Given the description of an element on the screen output the (x, y) to click on. 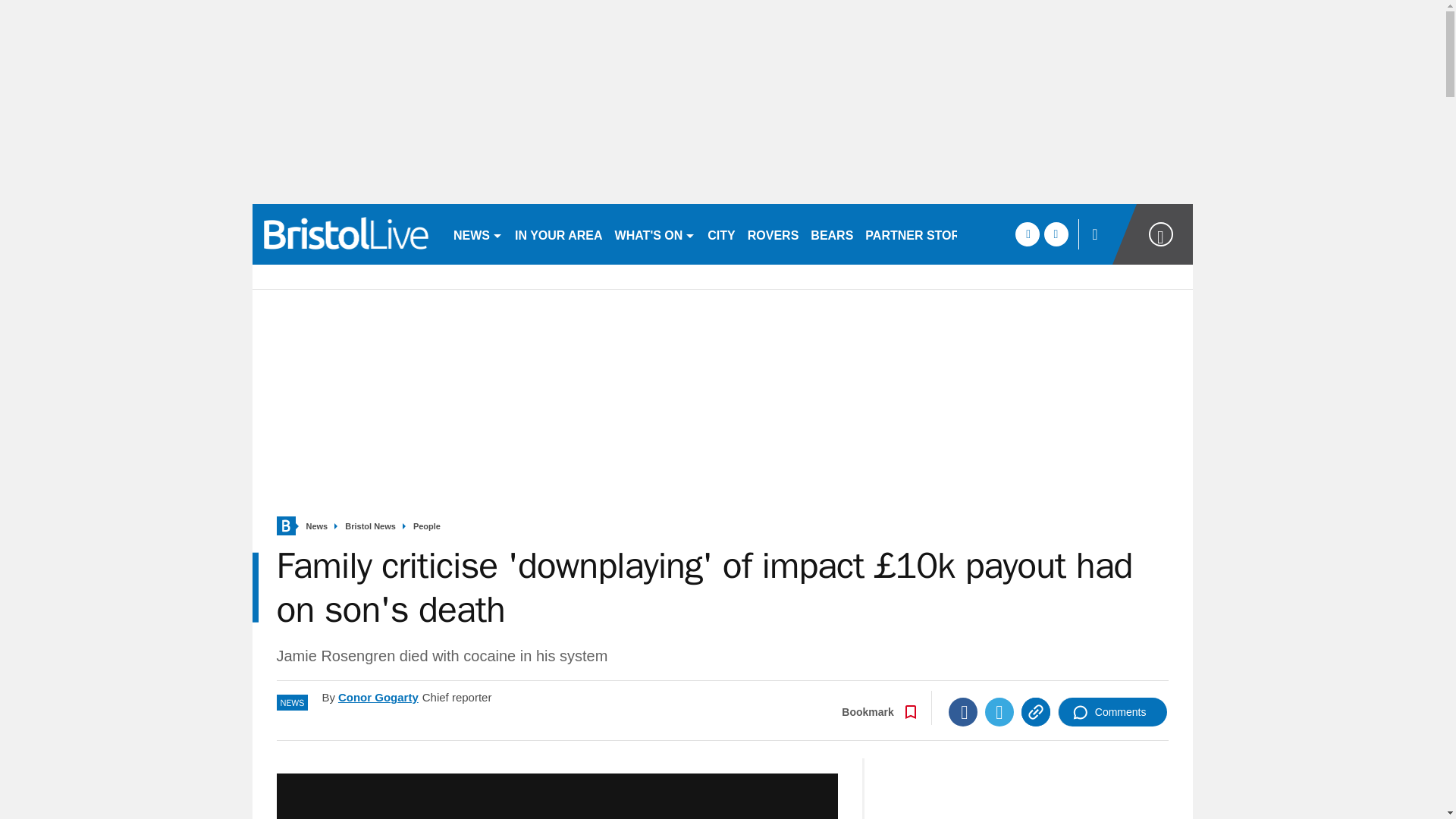
Facebook (962, 711)
ROVERS (773, 233)
bristolpost (345, 233)
IN YOUR AREA (558, 233)
PARTNER STORIES (922, 233)
NEWS (477, 233)
Comments (1112, 711)
Twitter (999, 711)
WHAT'S ON (654, 233)
twitter (1055, 233)
